Given the description of an element on the screen output the (x, y) to click on. 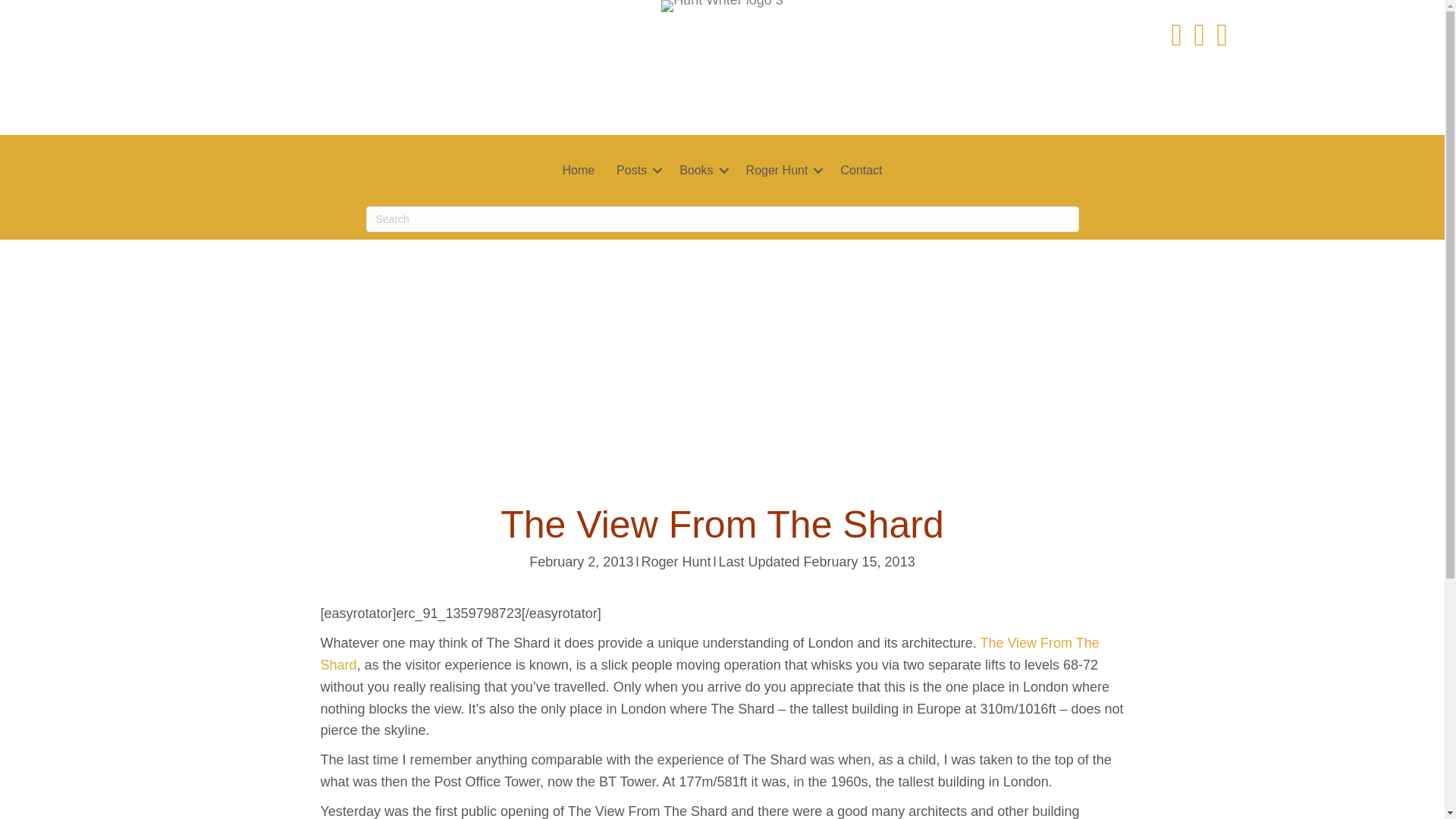
Books (700, 169)
Contact (860, 169)
Roger Hunt (675, 561)
Roger Hunt (782, 169)
Posts (636, 169)
Hunt Writer logo 3 (722, 6)
The View From The Shard (709, 653)
Type and press Enter to search. (721, 218)
Home (578, 169)
The View form The Shard (709, 653)
